Given the description of an element on the screen output the (x, y) to click on. 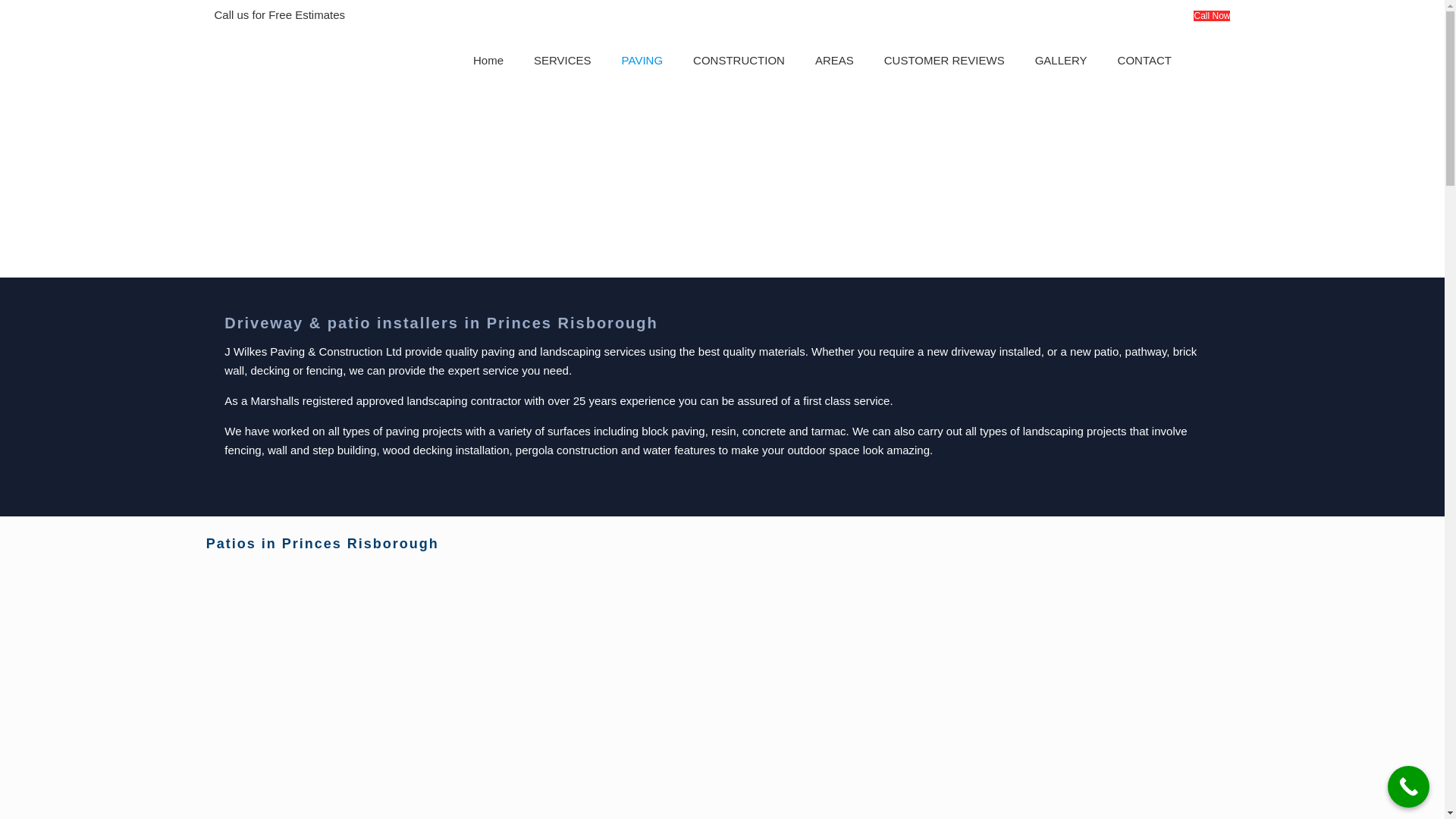
Home (488, 60)
SERVICES (562, 60)
PAVING (642, 60)
AREAS (834, 60)
CONSTRUCTION (738, 60)
Call Now (1211, 15)
